Given the description of an element on the screen output the (x, y) to click on. 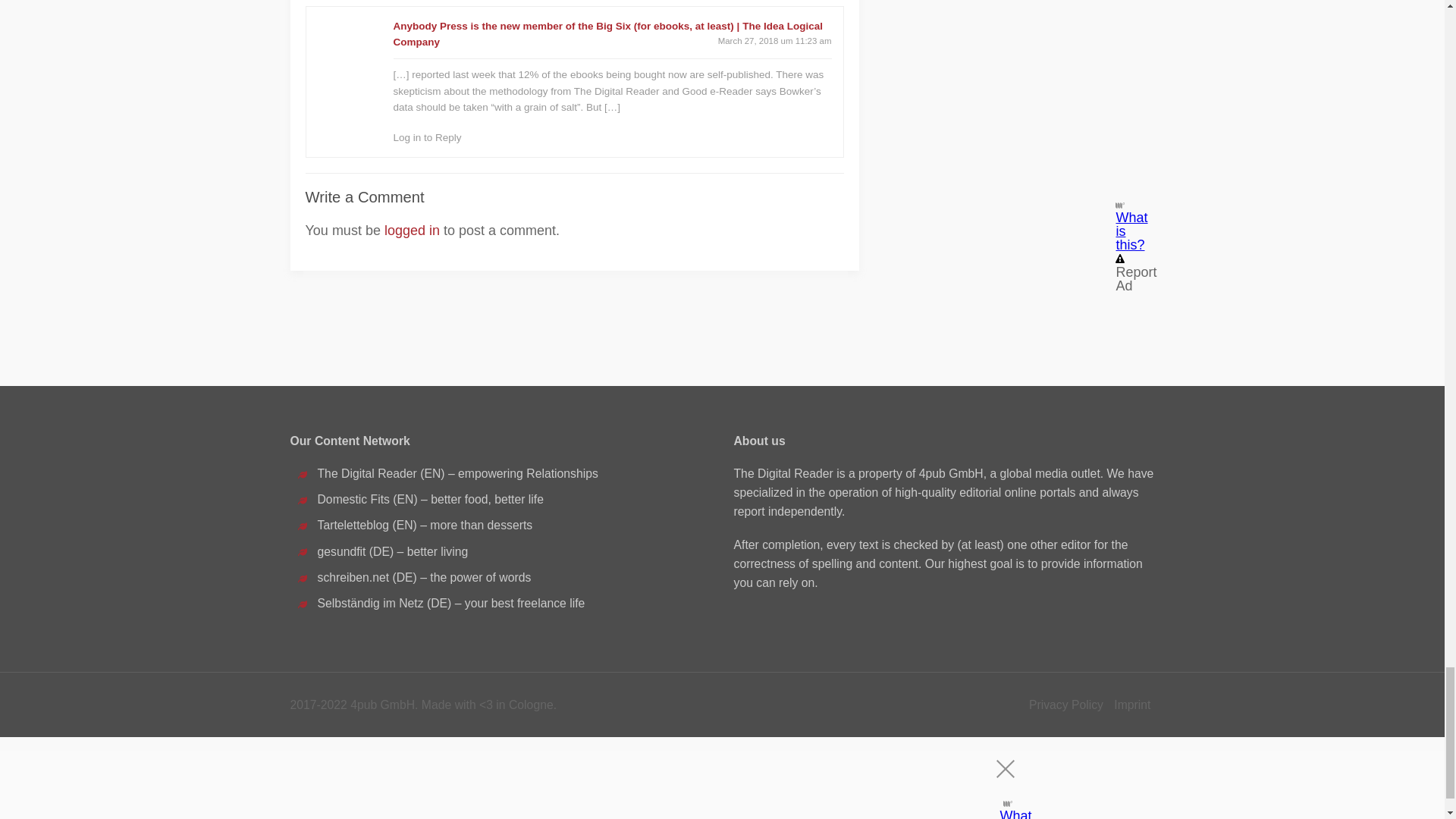
Log in to Reply (427, 137)
logged in (411, 230)
